Given the description of an element on the screen output the (x, y) to click on. 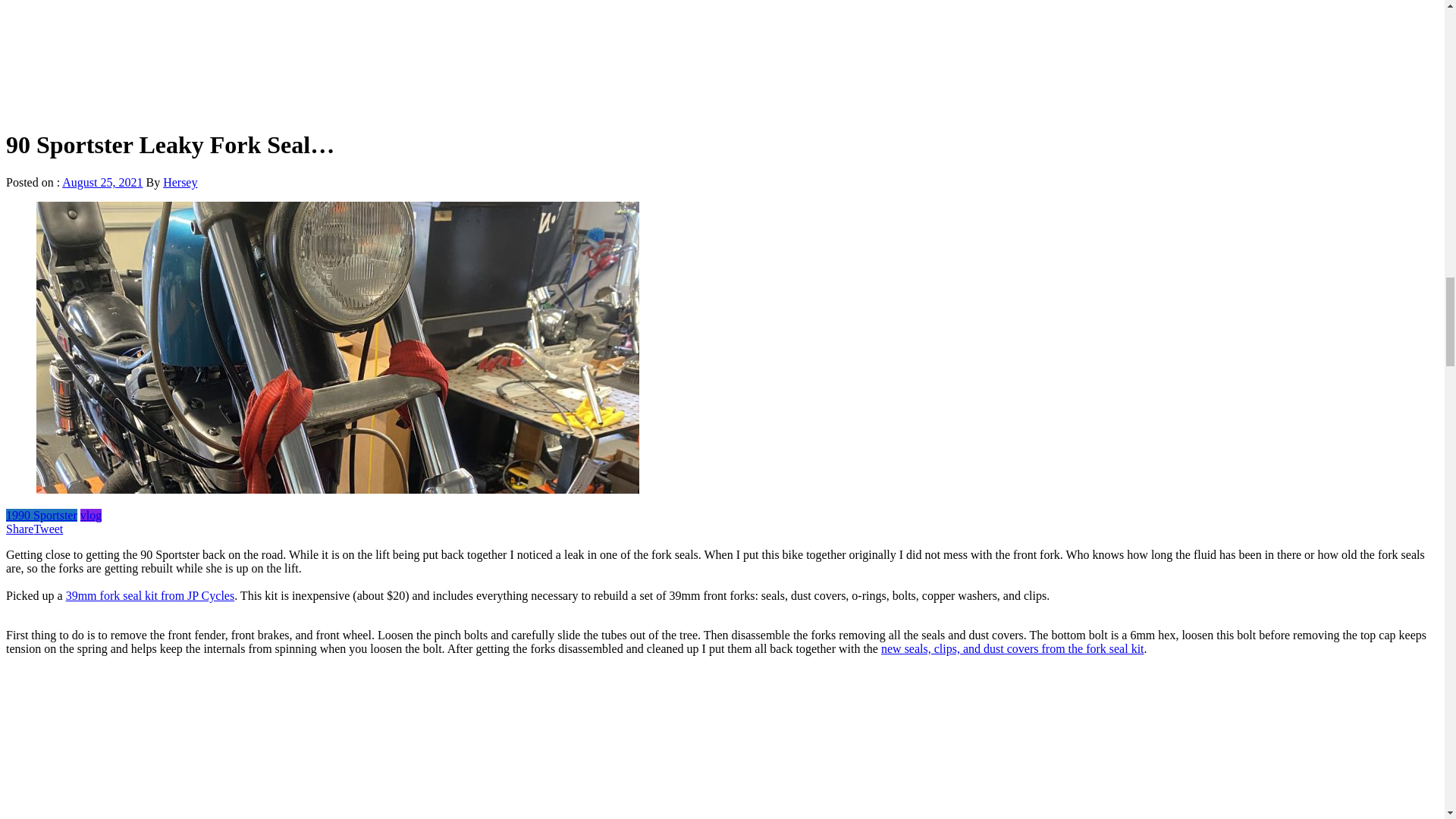
Advertisement (721, 57)
Posts by Hersey (179, 182)
